Given the description of an element on the screen output the (x, y) to click on. 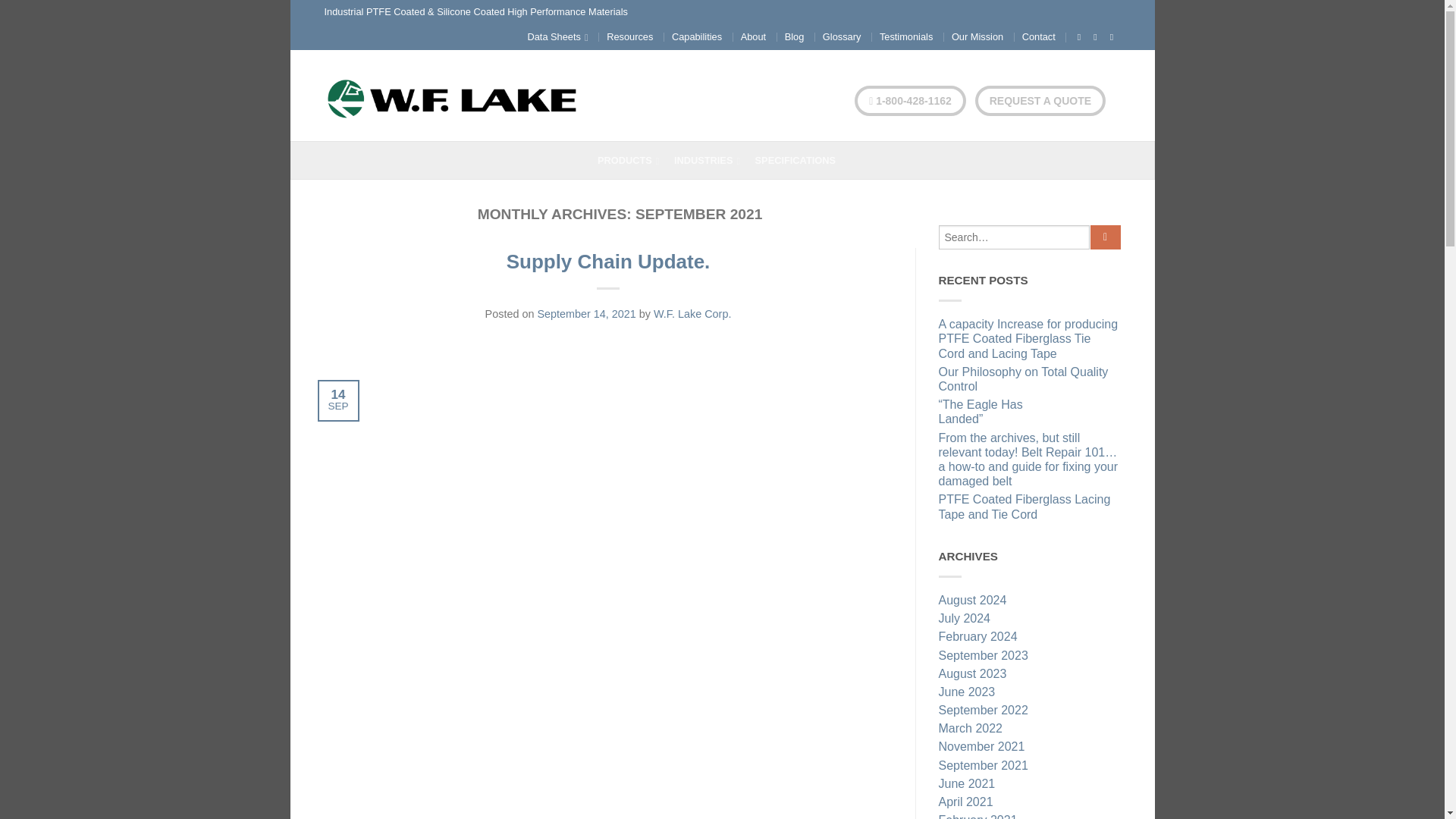
Glossary (841, 36)
REQUEST A QUOTE (1040, 100)
September 14, 2021 (585, 313)
Follow us on Instagram (1095, 36)
Contact us today (910, 100)
SPECIFICATIONS (801, 160)
Testimonials (906, 36)
Follow us on LinkedIn (1111, 36)
Follow us on Facebook (1078, 36)
Blog (794, 36)
